Given the description of an element on the screen output the (x, y) to click on. 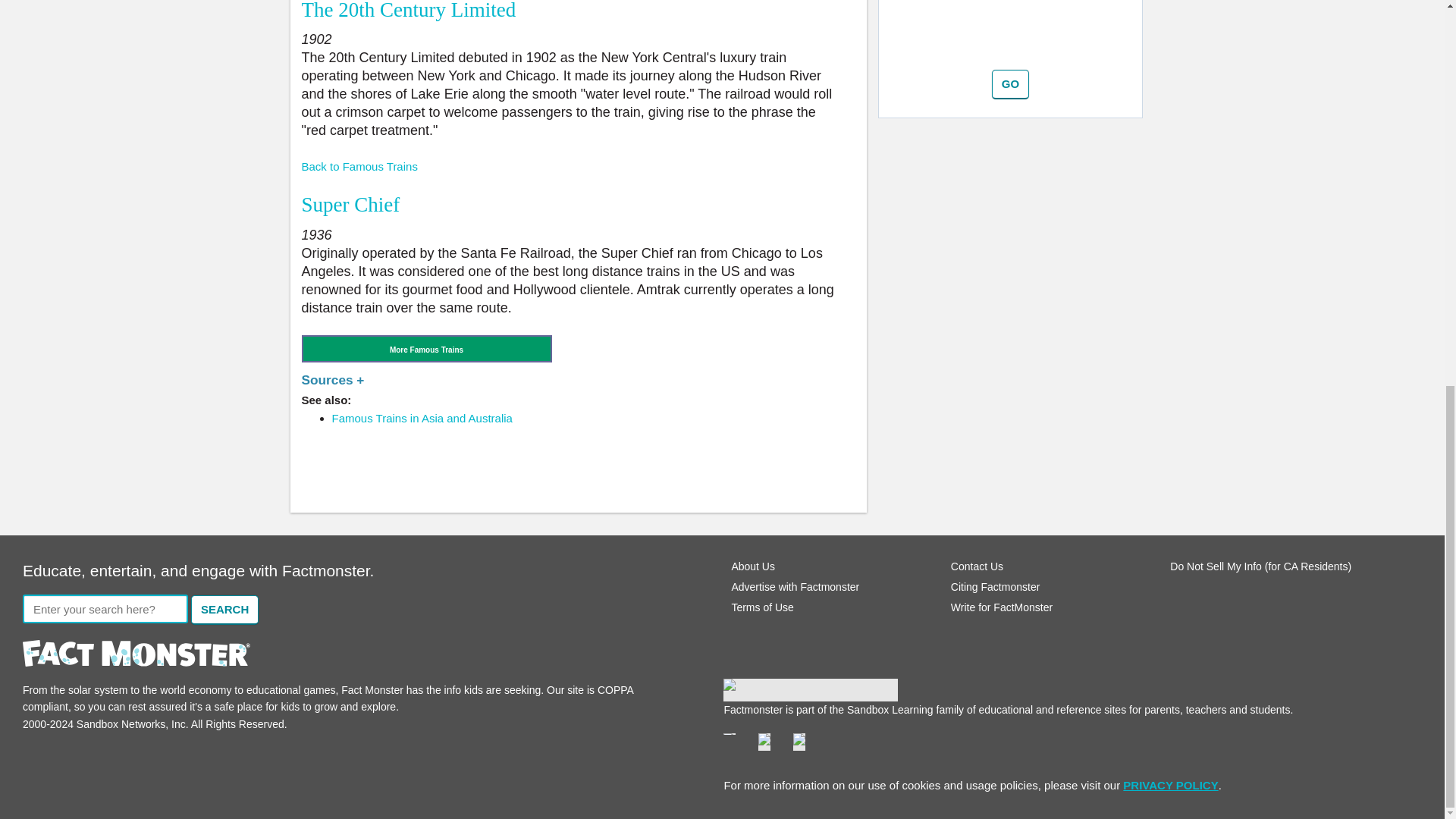
Go (1010, 84)
Go (1010, 84)
Search (224, 609)
About Us (752, 566)
